Given the description of an element on the screen output the (x, y) to click on. 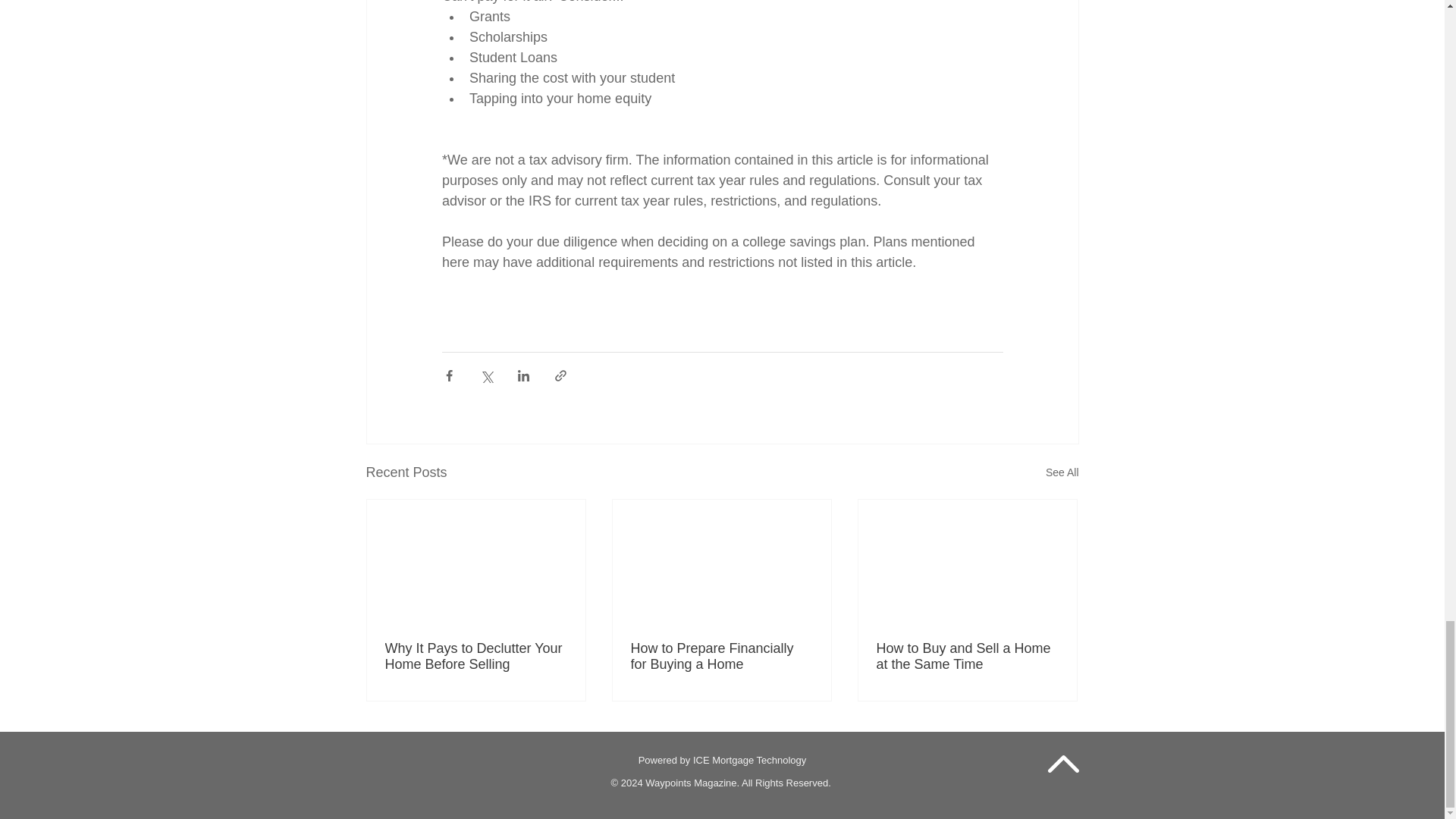
Why It Pays to Declutter Your Home Before Selling (476, 656)
How to Prepare Financially for Buying a Home (721, 656)
How to Buy and Sell a Home at the Same Time (967, 656)
See All (1061, 472)
